Given the description of an element on the screen output the (x, y) to click on. 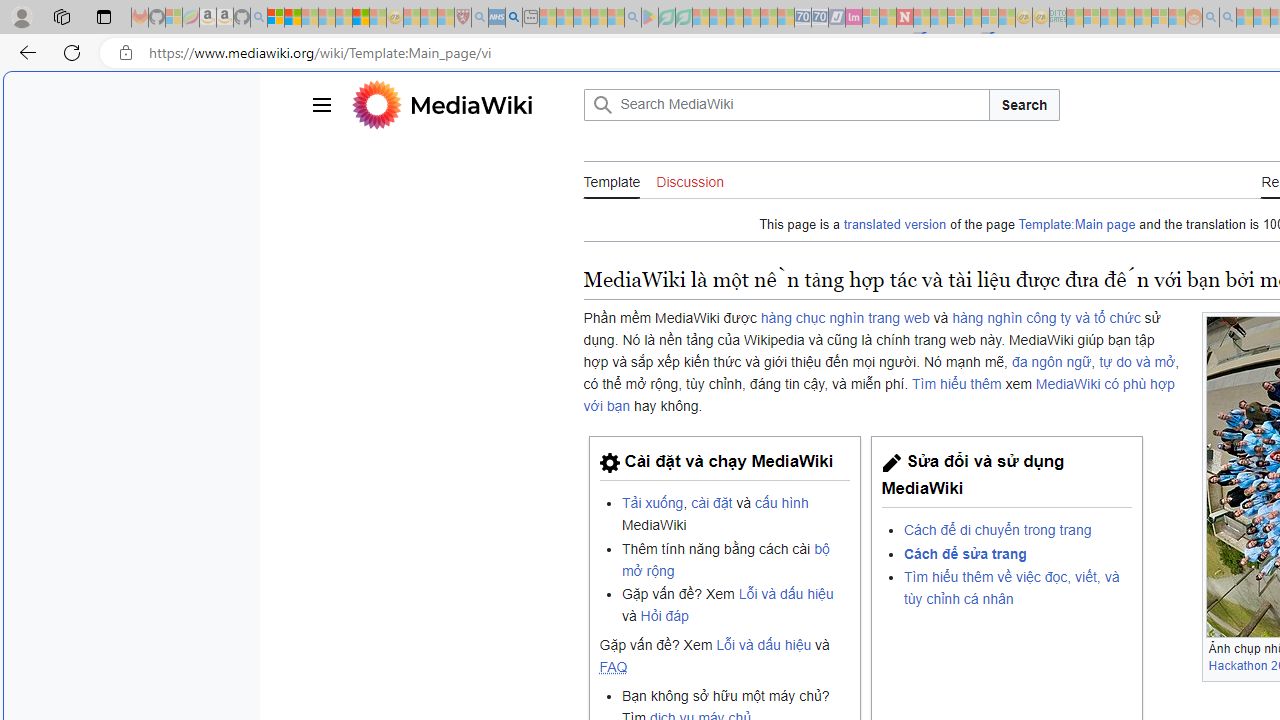
Discussion (689, 180)
Template (611, 181)
